Given the description of an element on the screen output the (x, y) to click on. 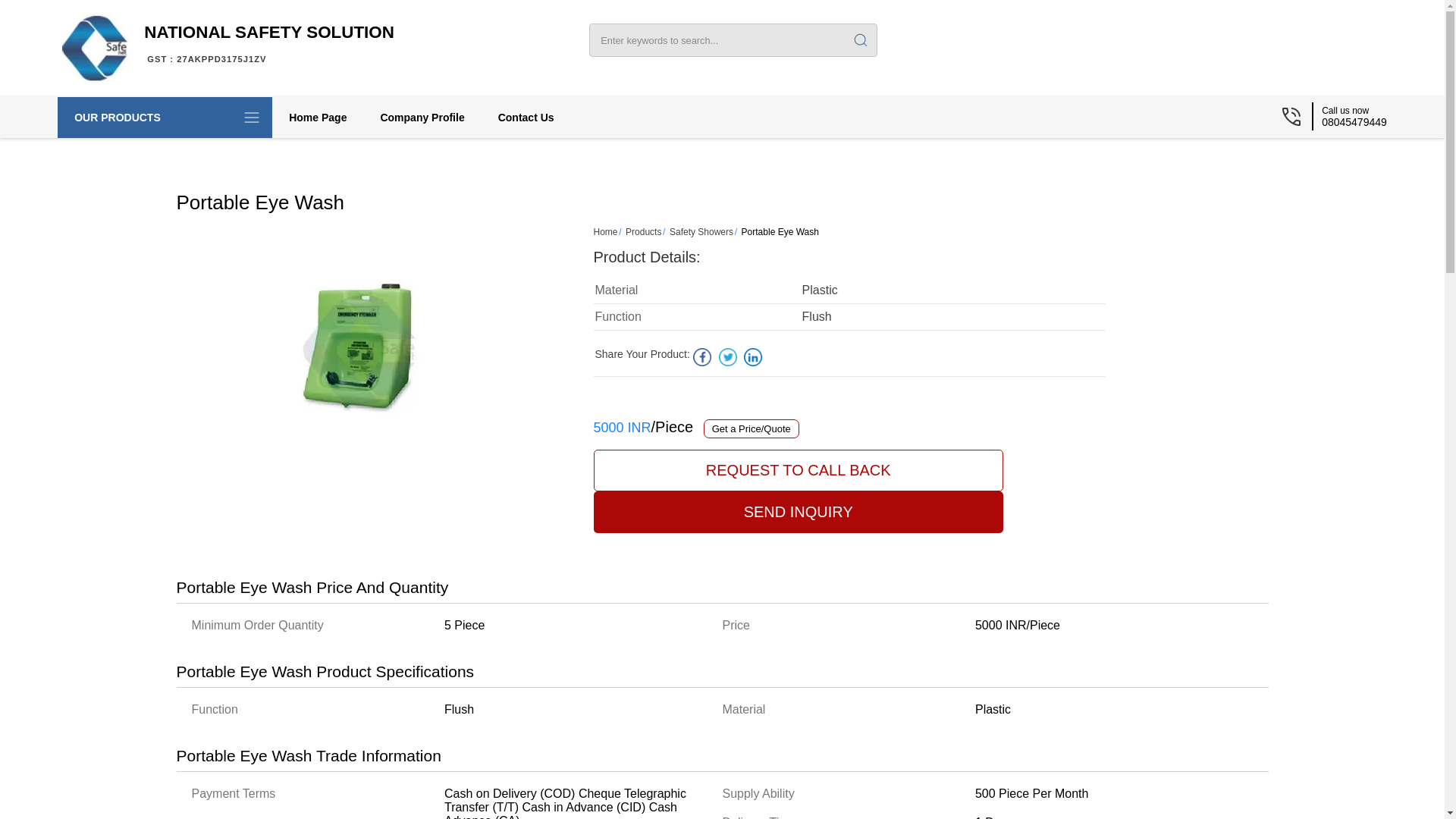
submit (860, 40)
OUR PRODUCTS (165, 117)
submit (269, 44)
Enter keywords to search... (860, 40)
